Given the description of an element on the screen output the (x, y) to click on. 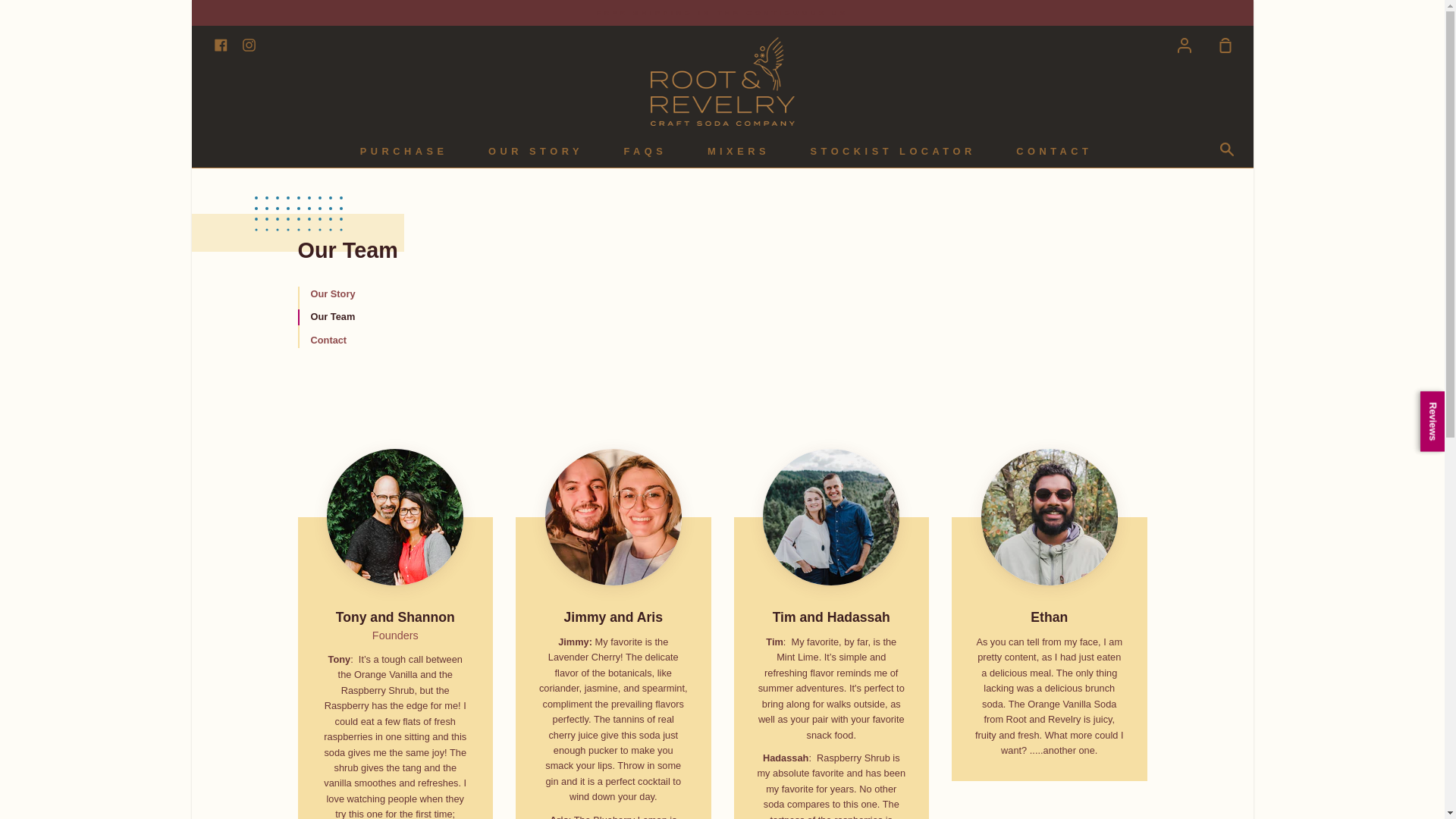
Facebook (220, 43)
MIXERS (738, 151)
FAQS (645, 151)
Our Team (395, 316)
Root and Revelry Craft Soda on Instagram (249, 43)
Root and Revelry Craft Soda on Facebook (220, 43)
Instagram (249, 43)
STOCKIST LOCATOR (892, 151)
Contact (395, 340)
OUR STORY (535, 151)
Our Story (395, 294)
PURCHASE (403, 151)
